Given the description of an element on the screen output the (x, y) to click on. 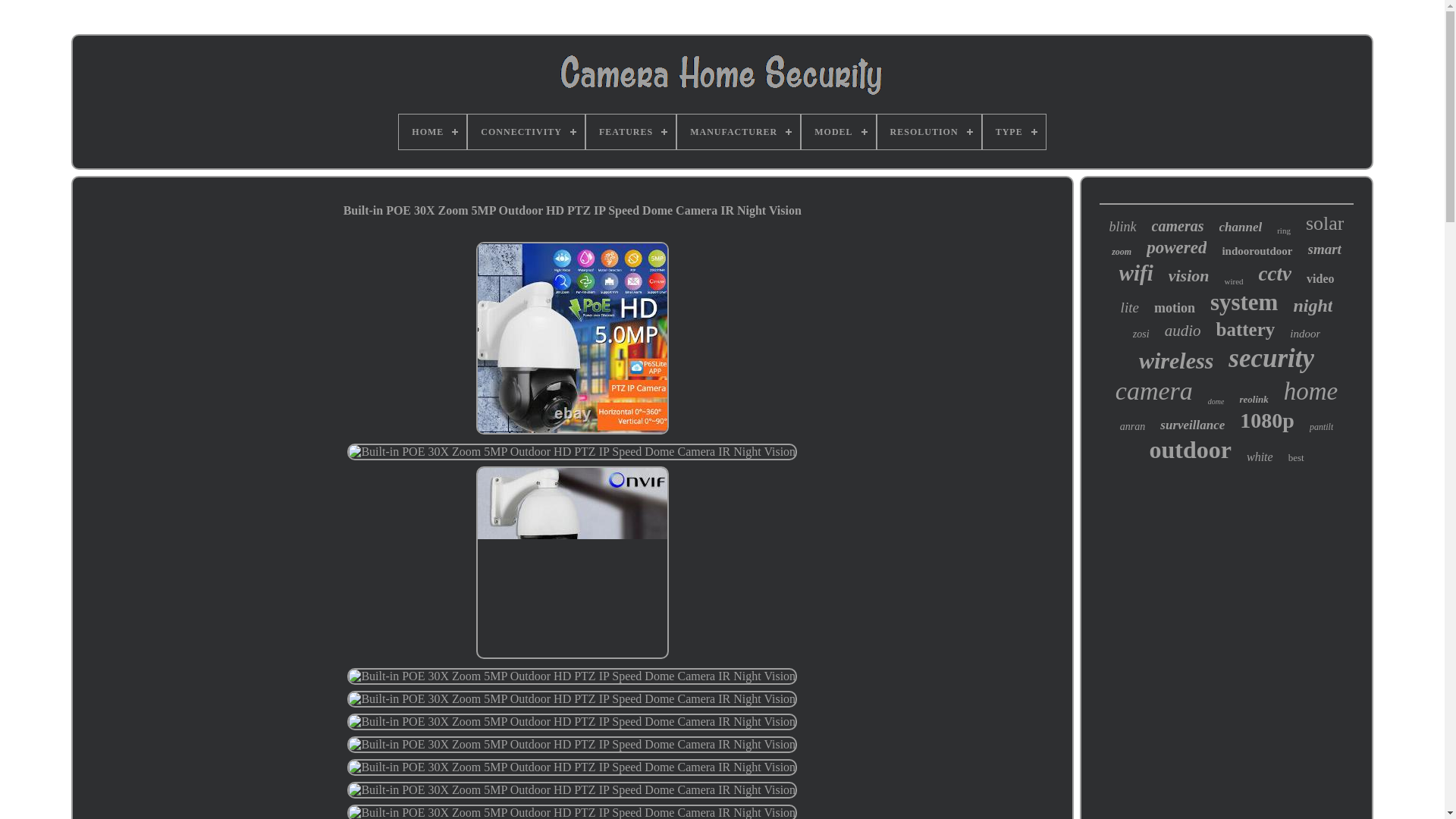
HOME (431, 131)
FEATURES (630, 131)
CONNECTIVITY (526, 131)
